Given the description of an element on the screen output the (x, y) to click on. 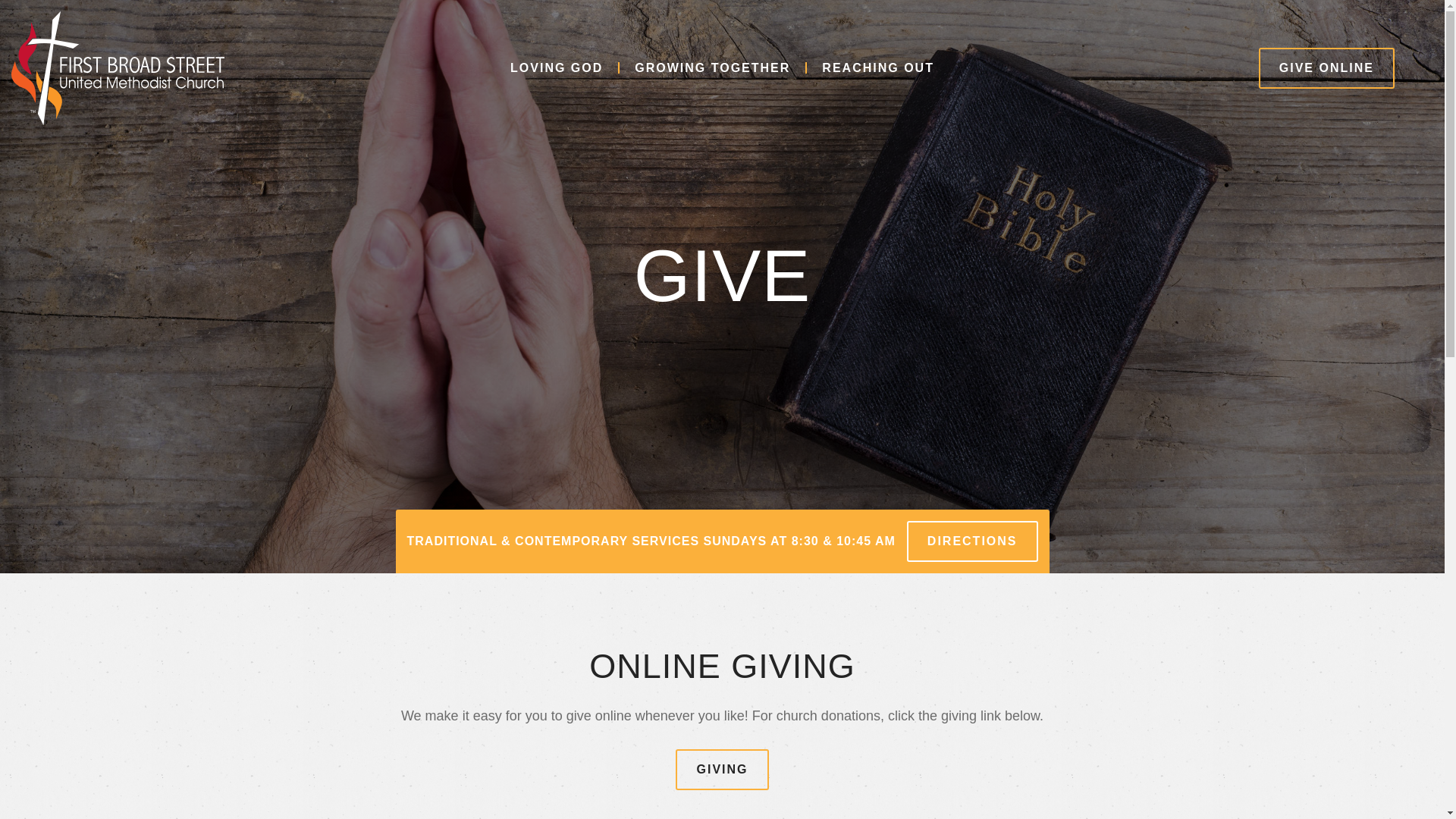
DIRECTIONS (972, 540)
GIVE ONLINE (1326, 67)
GIVING (721, 769)
